Given the description of an element on the screen output the (x, y) to click on. 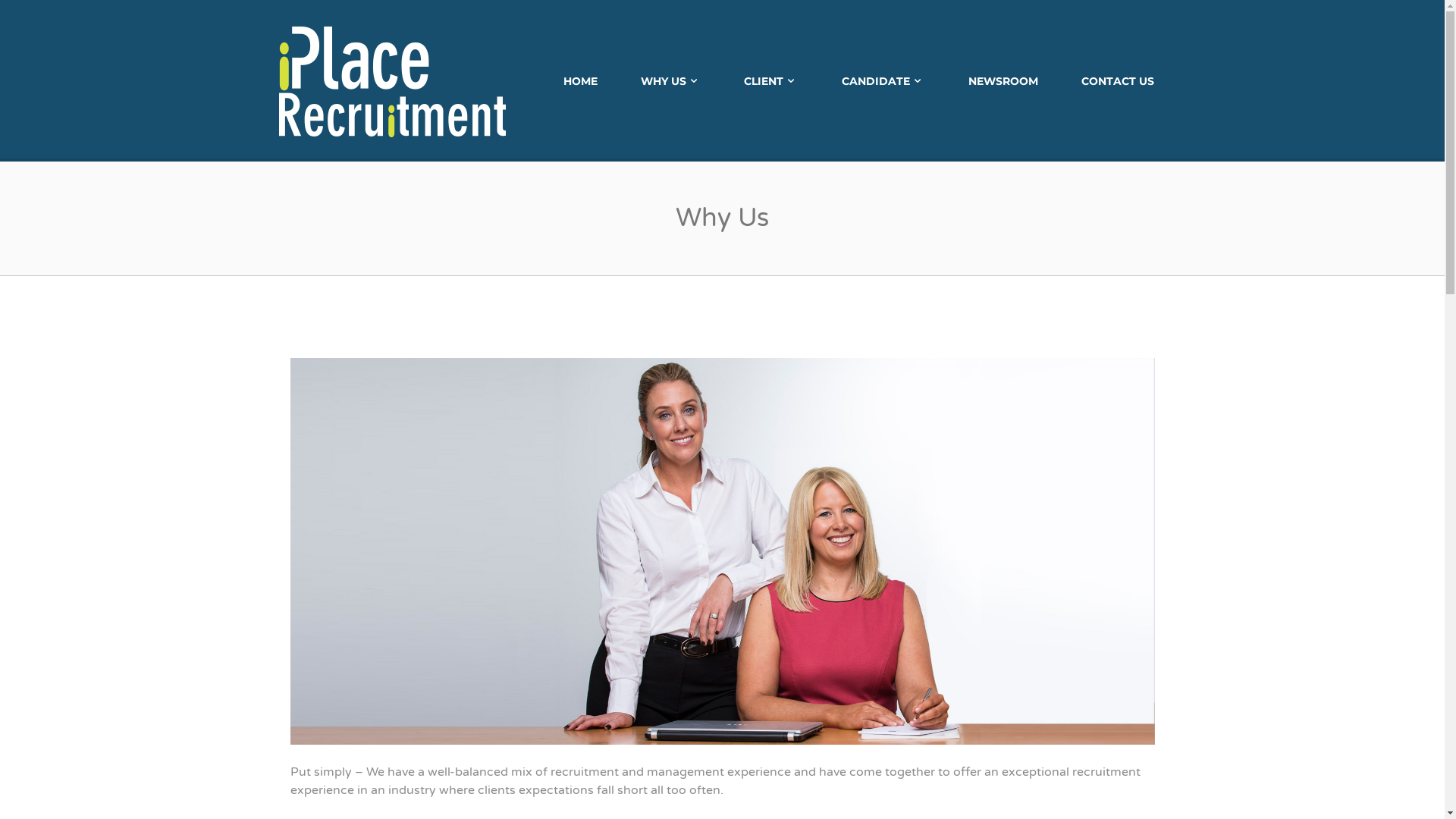
IPLACE RECRUITMENT Element type: text (392, 80)
WHY US Element type: text (670, 80)
HOME Element type: text (580, 80)
CLIENT Element type: text (770, 80)
CONTACT US Element type: text (1117, 80)
CANDIDATE Element type: text (883, 80)
NEWSROOM Element type: text (1002, 80)
